Given the description of an element on the screen output the (x, y) to click on. 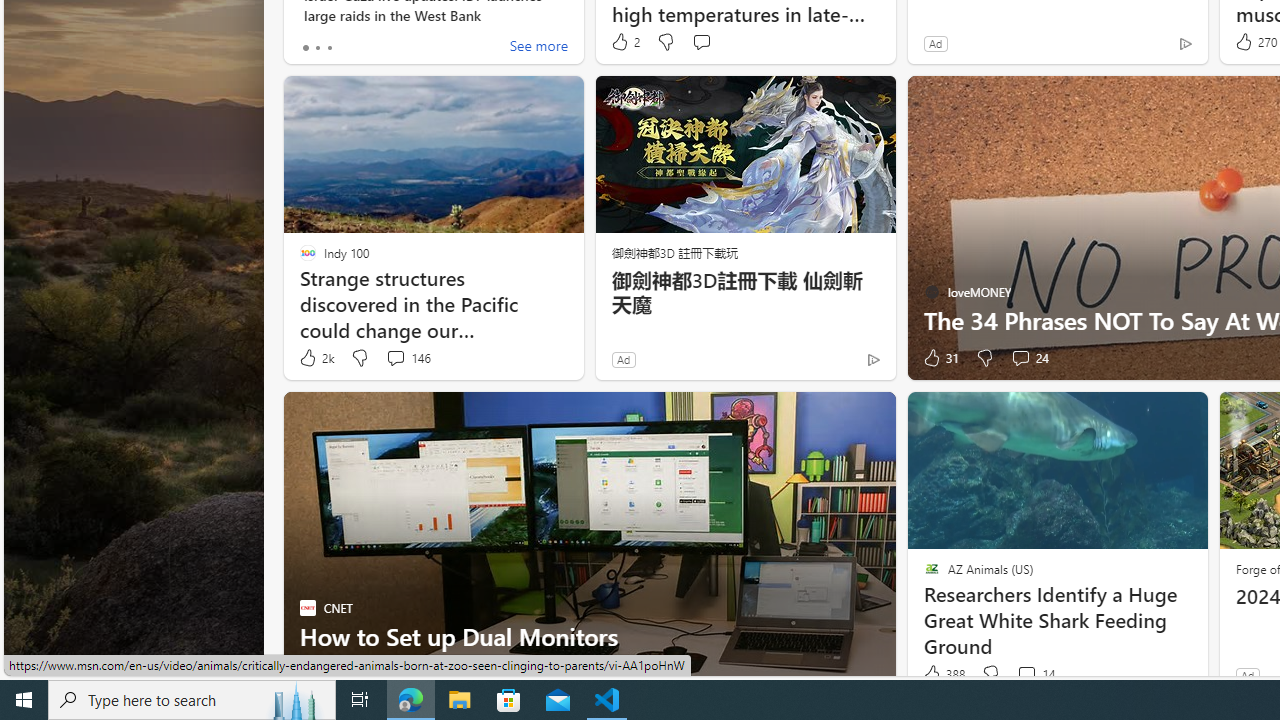
2 Like (624, 42)
Start the conversation (395, 674)
View comments 14 Comment (1026, 673)
Start the conversation (396, 673)
tab-0 (305, 47)
Dislike (989, 674)
31 Like (939, 358)
